Given the description of an element on the screen output the (x, y) to click on. 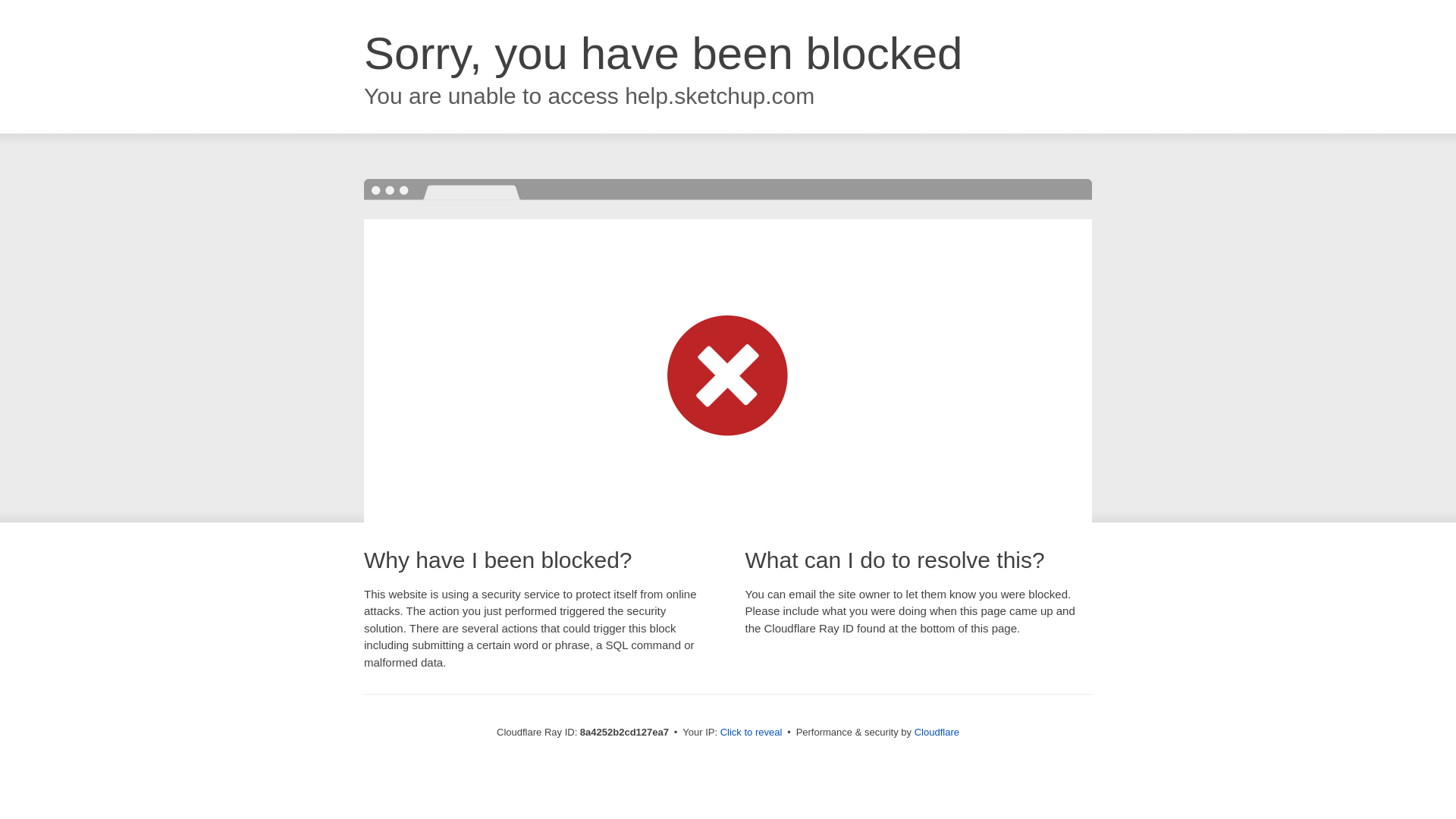
Click to reveal (751, 732)
Cloudflare (936, 731)
